Given the description of an element on the screen output the (x, y) to click on. 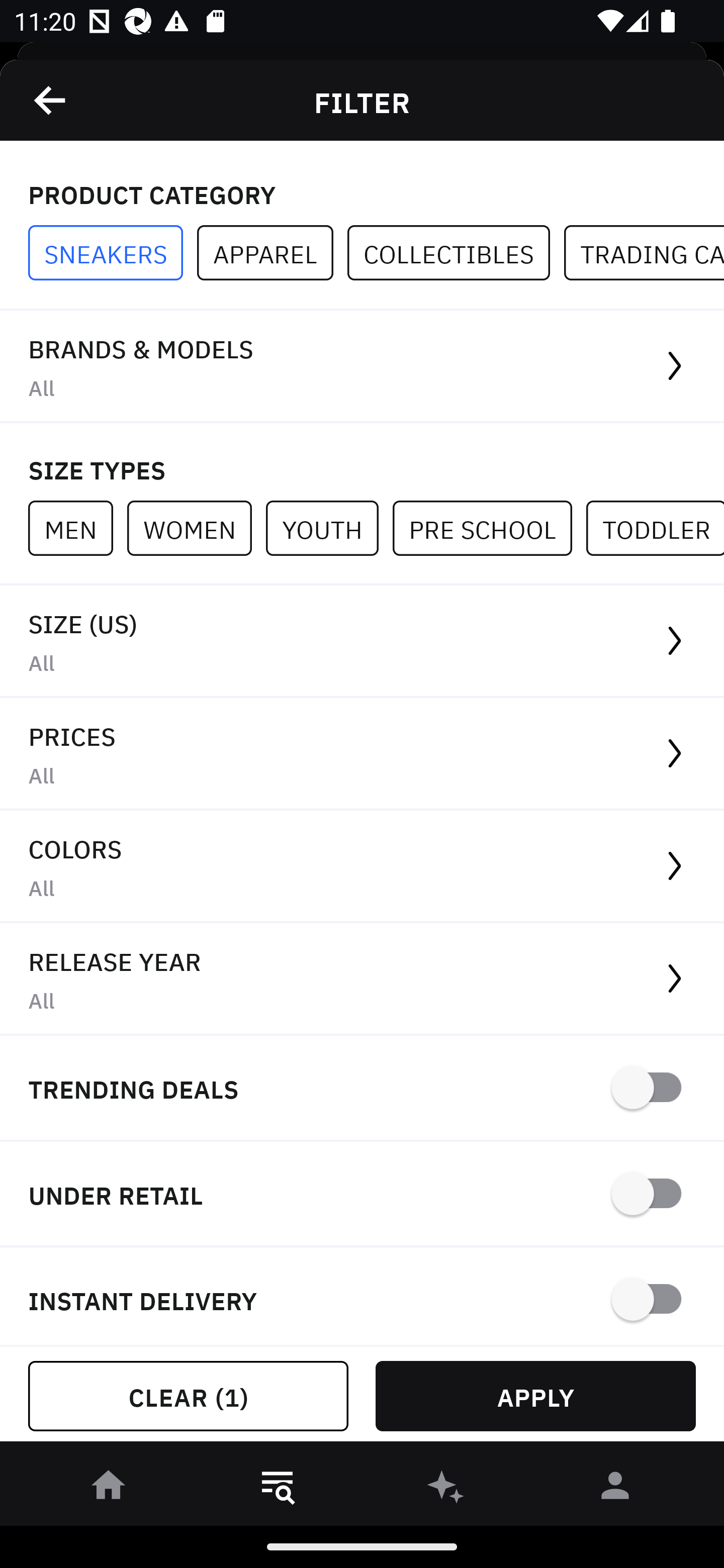
 (50, 100)
SNEAKERS (112, 252)
APPAREL (271, 252)
COLLECTIBLES (455, 252)
TRADING CARDS (643, 252)
BRANDS & MODELS All (362, 366)
MEN (77, 527)
WOMEN (196, 527)
YOUTH (328, 527)
PRE SCHOOL (489, 527)
TODDLER (655, 527)
SIZE (US) All (362, 640)
PRICES All (362, 753)
COLORS All (362, 866)
RELEASE YEAR All (362, 979)
TRENDING DEALS (362, 1088)
UNDER RETAIL (362, 1194)
INSTANT DELIVERY (362, 1296)
CLEAR (1) (188, 1396)
APPLY (535, 1396)
󰋜 (108, 1488)
󱎸 (277, 1488)
󰫢 (446, 1488)
󰀄 (615, 1488)
